Given the description of an element on the screen output the (x, y) to click on. 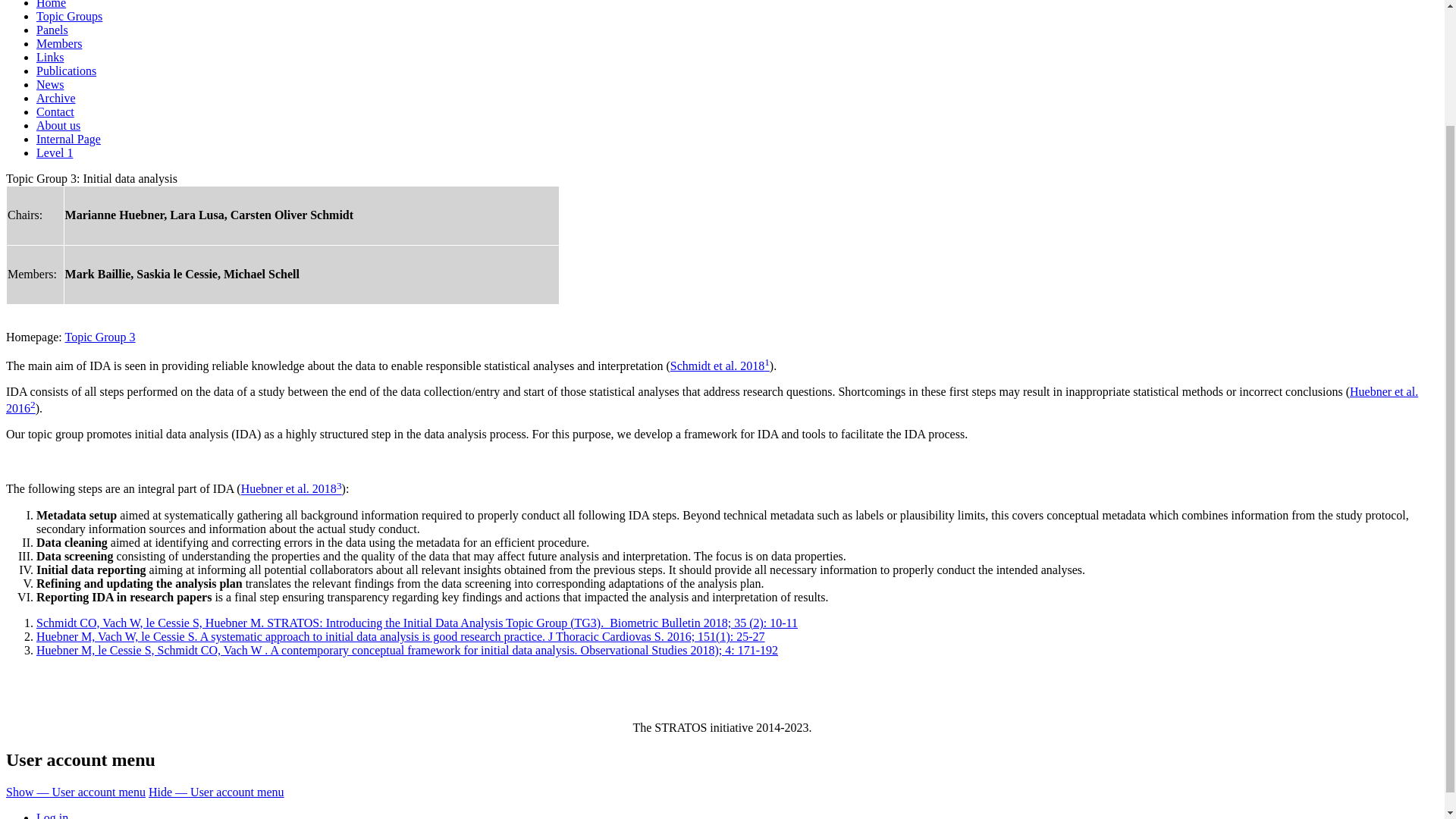
Internal Page (68, 138)
Home (50, 4)
Publications (66, 70)
Schmidt et al. 2018 (716, 365)
Members (58, 42)
Archive (55, 97)
About us (58, 124)
Contact (55, 111)
List of current STRATOS members (58, 42)
Level 1 (54, 152)
Links (50, 56)
Huebner et al. 2016 (711, 399)
Huebner et al. 2018 (288, 489)
Topic Groups (68, 15)
News (50, 83)
